Given the description of an element on the screen output the (x, y) to click on. 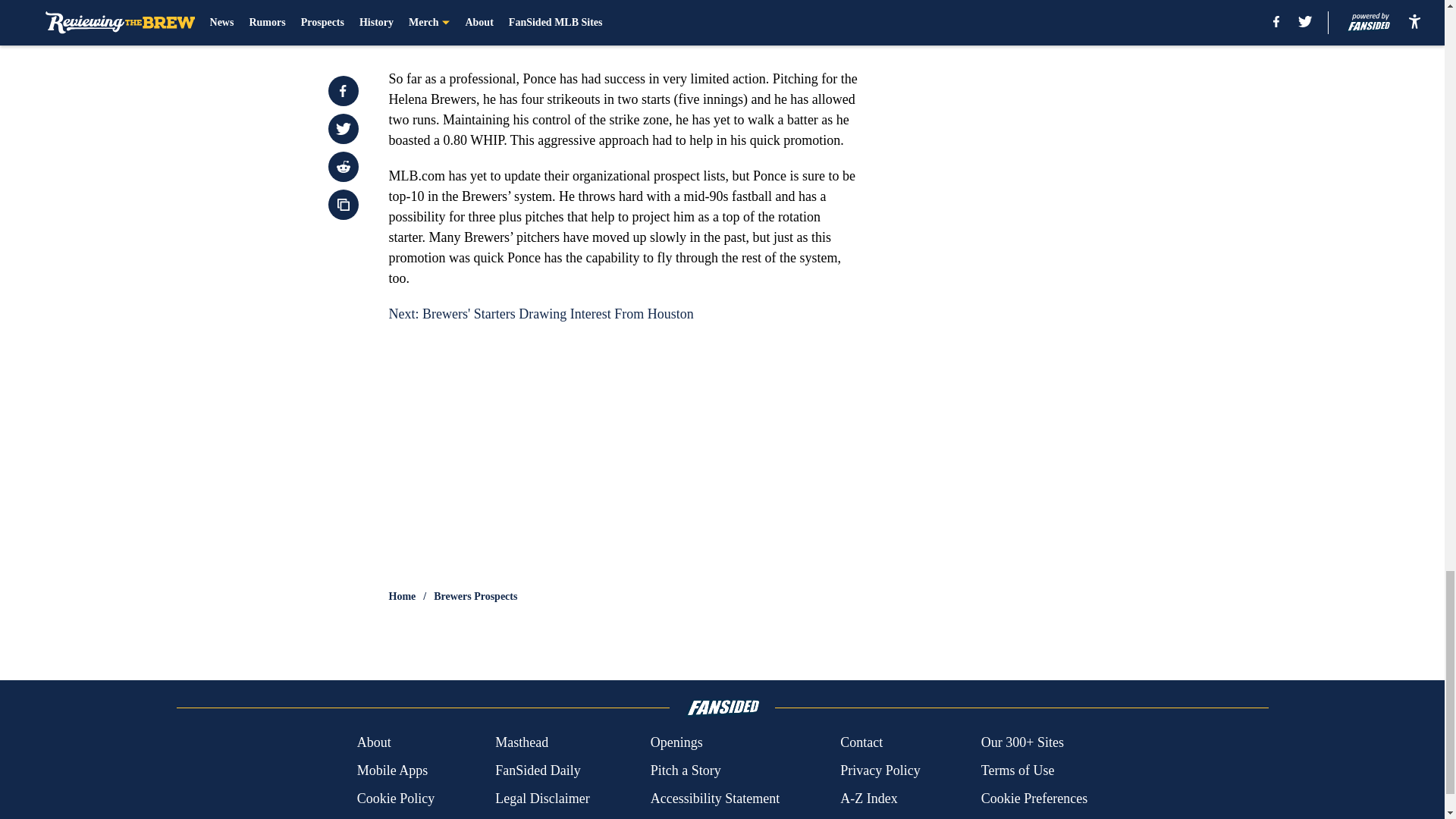
Masthead (521, 742)
Home (401, 596)
Next: Brewers' Starters Drawing Interest From Houston (540, 313)
Brewers Prospects (474, 596)
Openings (676, 742)
About (373, 742)
